Given the description of an element on the screen output the (x, y) to click on. 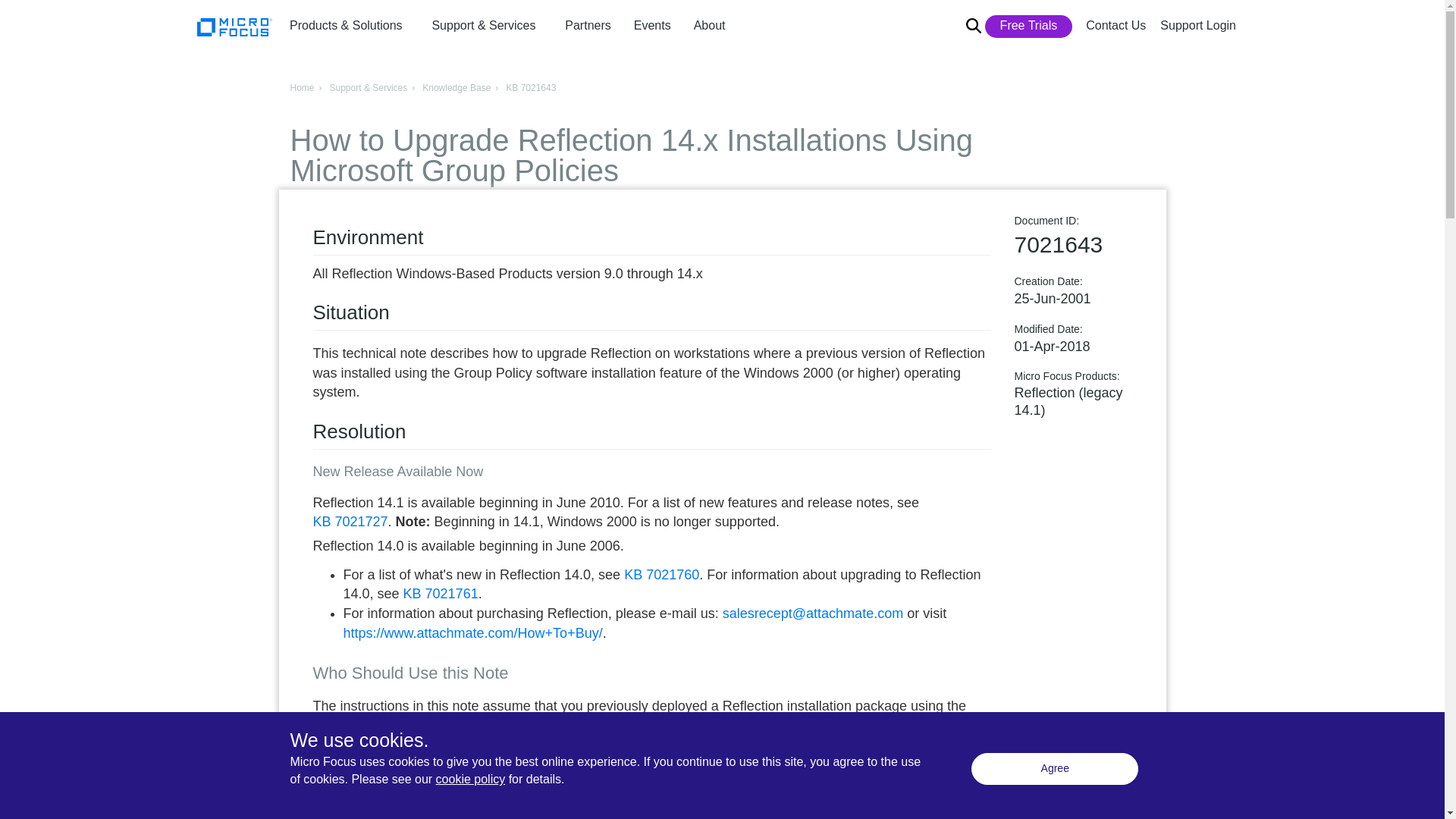
Agree (1054, 768)
cookie policy (470, 779)
